Given the description of an element on the screen output the (x, y) to click on. 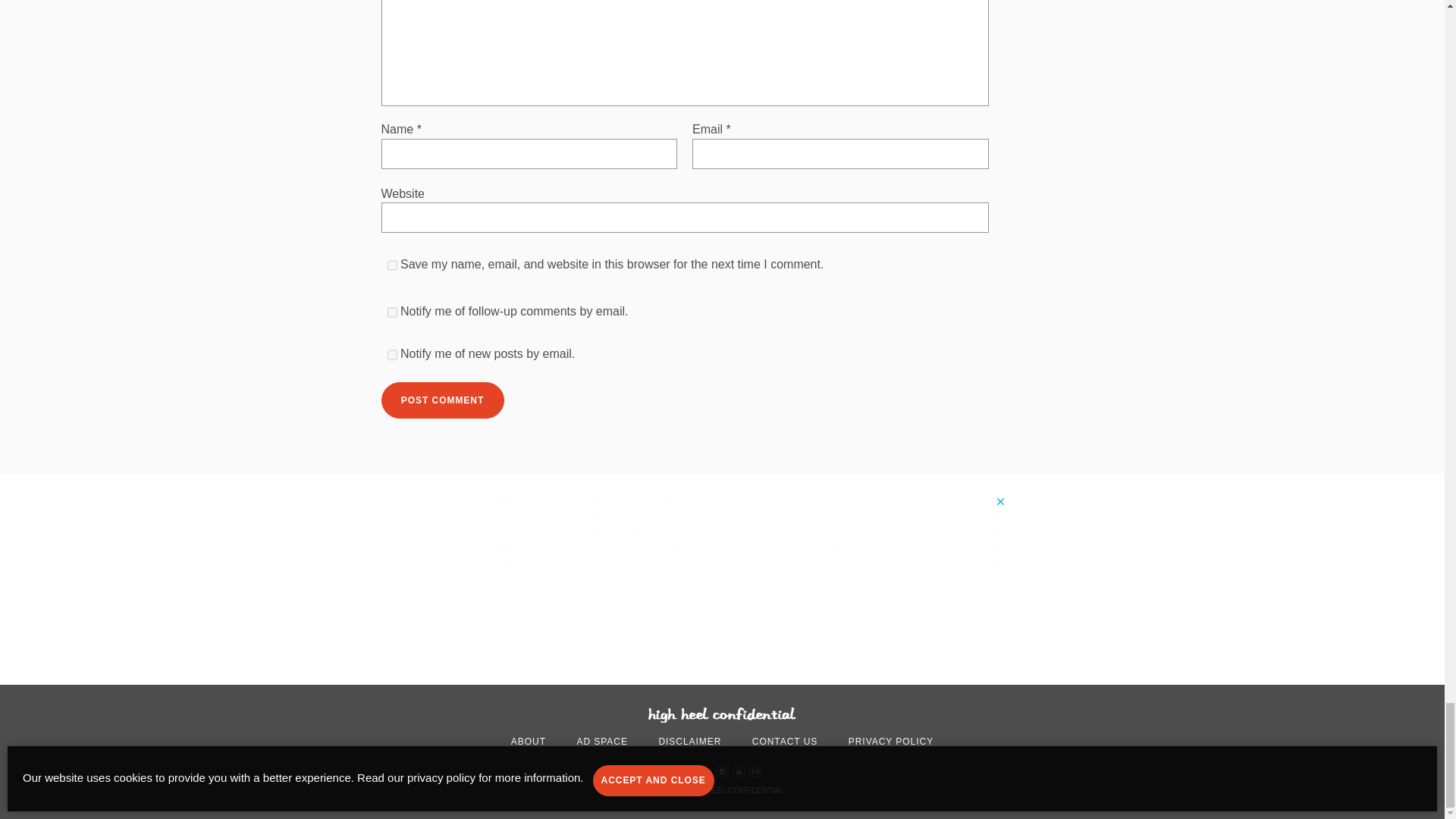
Post Comment (441, 400)
